Given the description of an element on the screen output the (x, y) to click on. 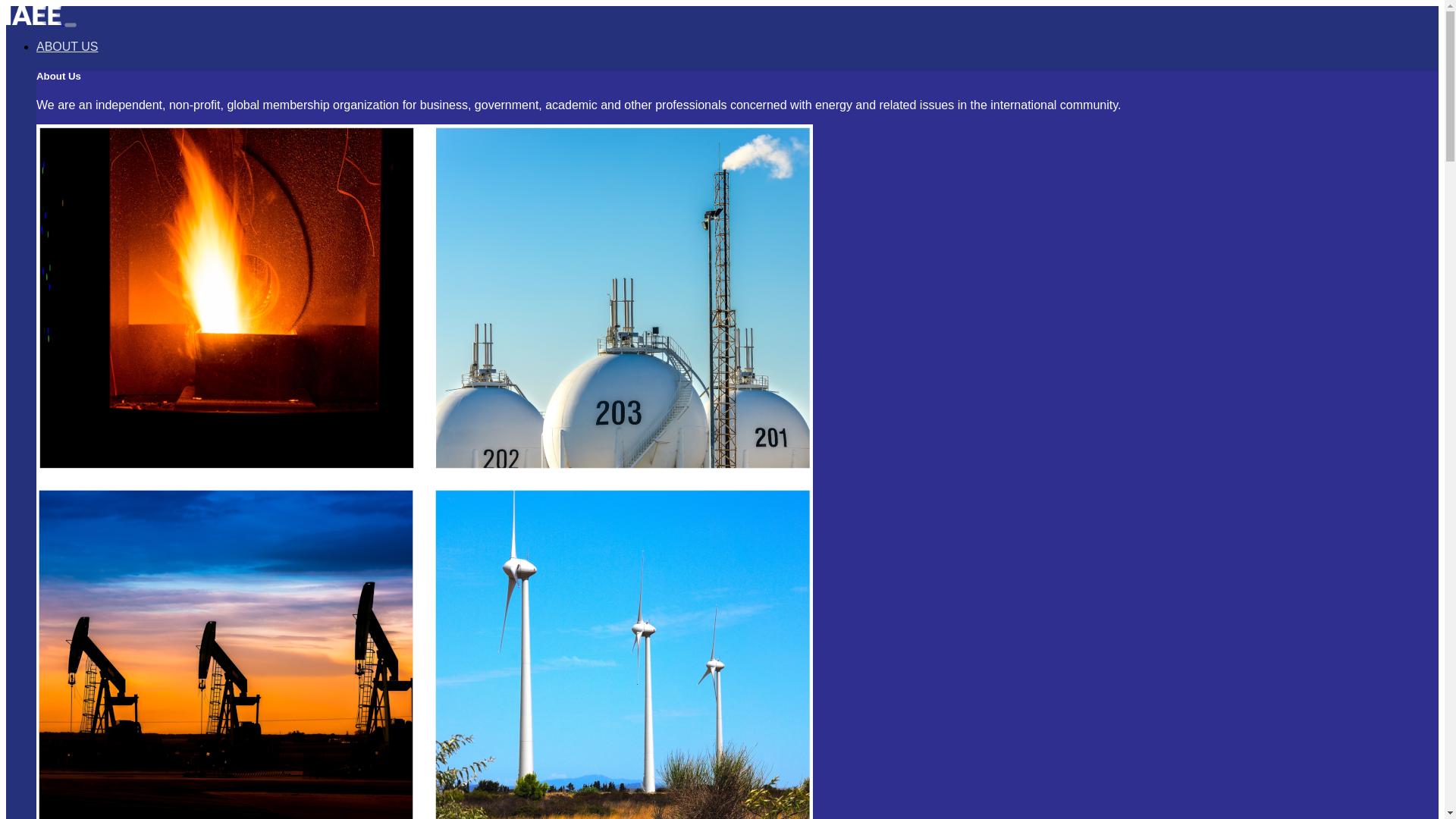
ABOUT US (67, 46)
